Given the description of an element on the screen output the (x, y) to click on. 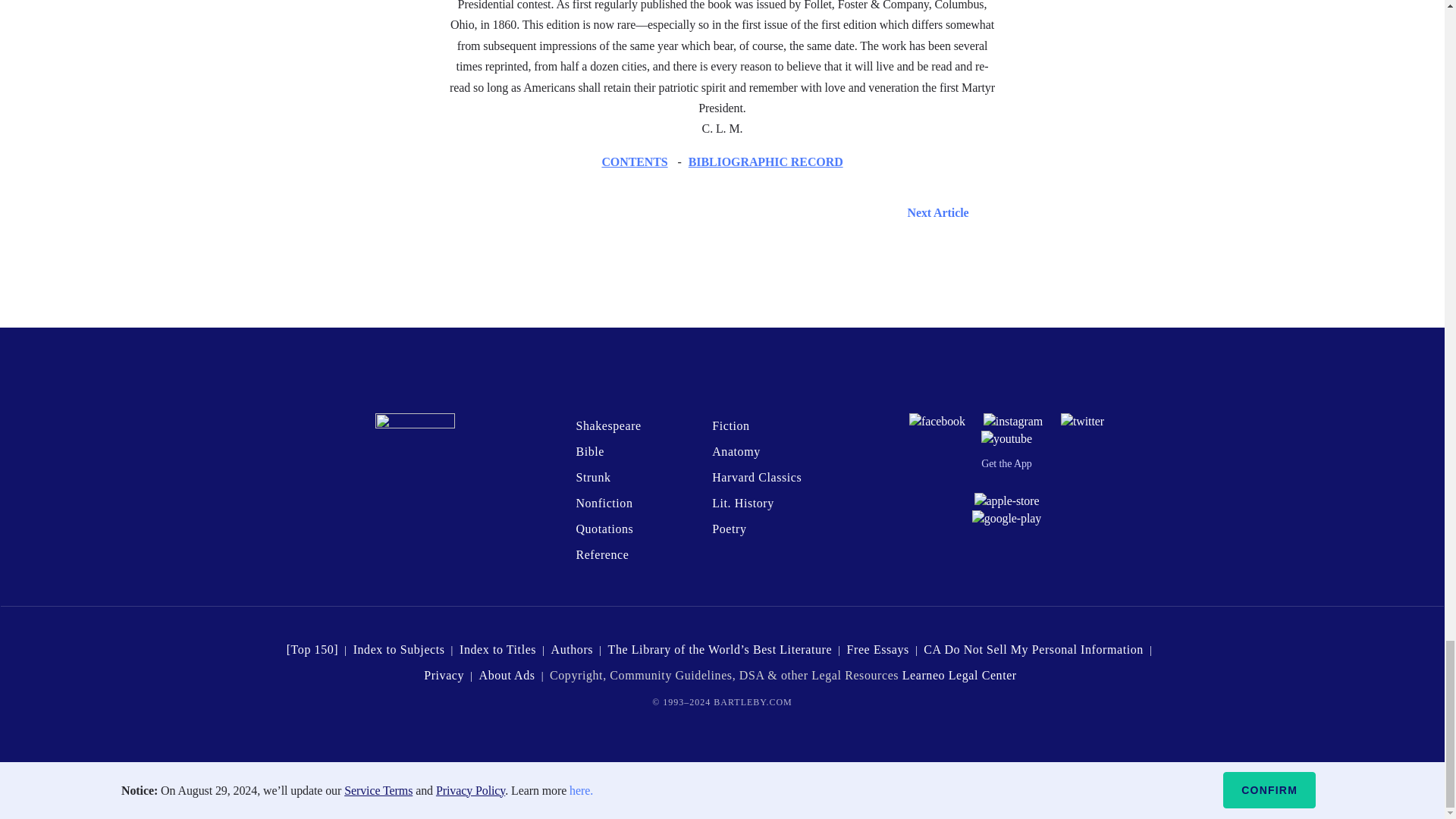
Harvard Classics (756, 477)
Fiction (730, 425)
Next Article (722, 212)
Lit. History (742, 502)
Shakespeare (607, 425)
Quotations (604, 528)
Reference (601, 554)
Strunk (592, 477)
Anatomy (735, 451)
Bible (589, 451)
